Given the description of an element on the screen output the (x, y) to click on. 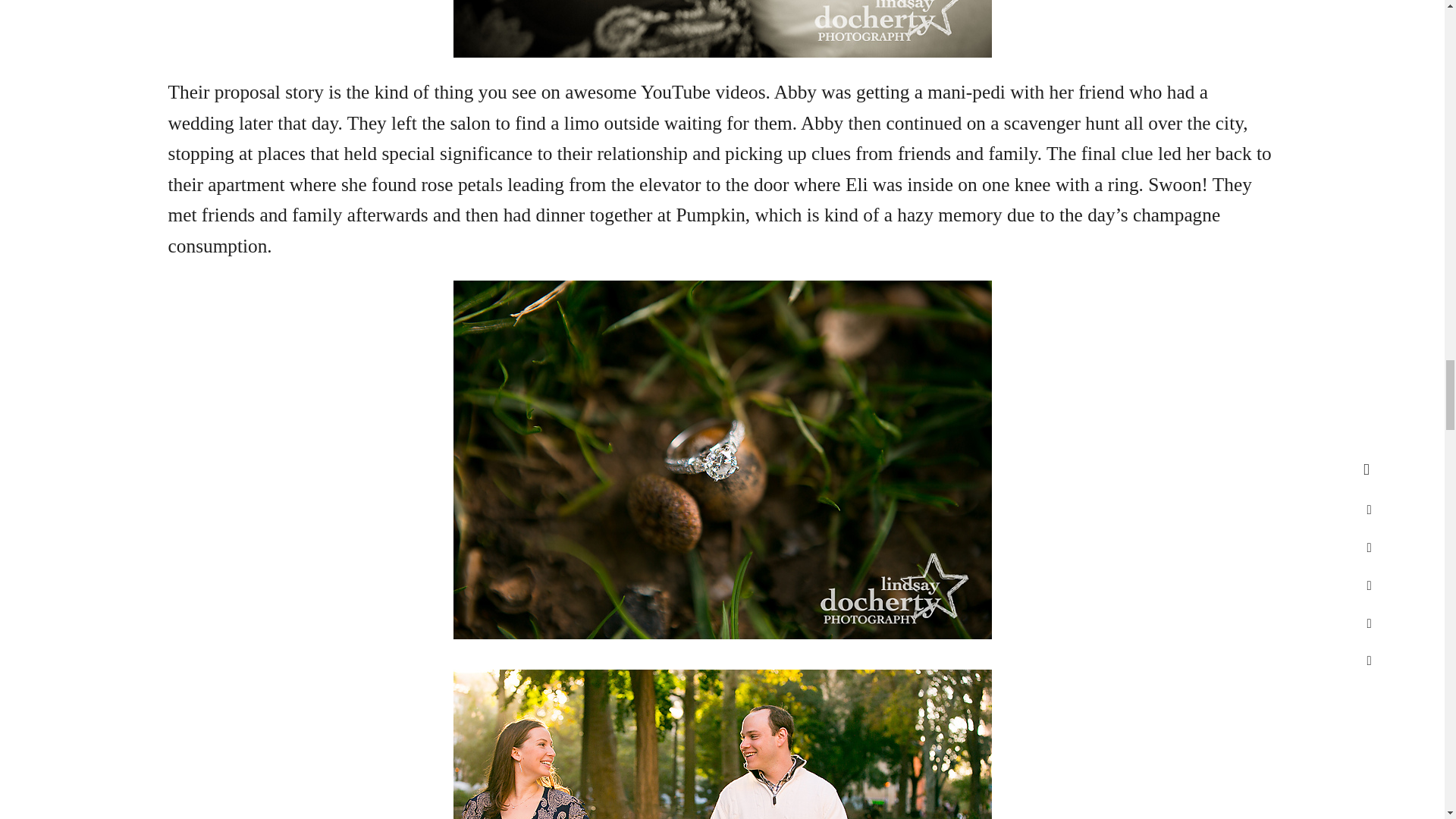
Pumpkin (709, 214)
